Given the description of an element on the screen output the (x, y) to click on. 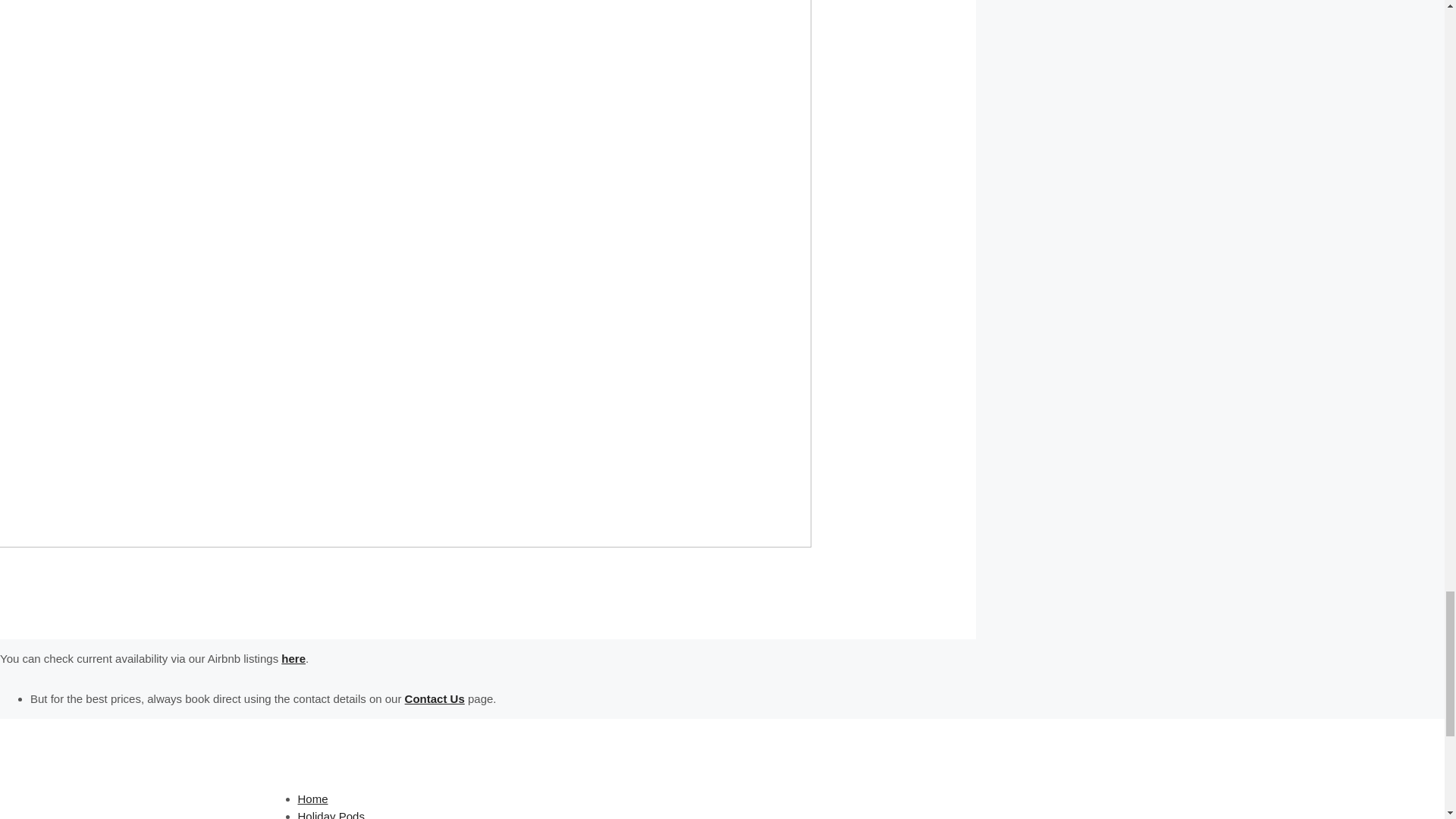
Home (312, 798)
Holiday Pods (330, 814)
Contact Us (434, 698)
here (293, 658)
